Given the description of an element on the screen output the (x, y) to click on. 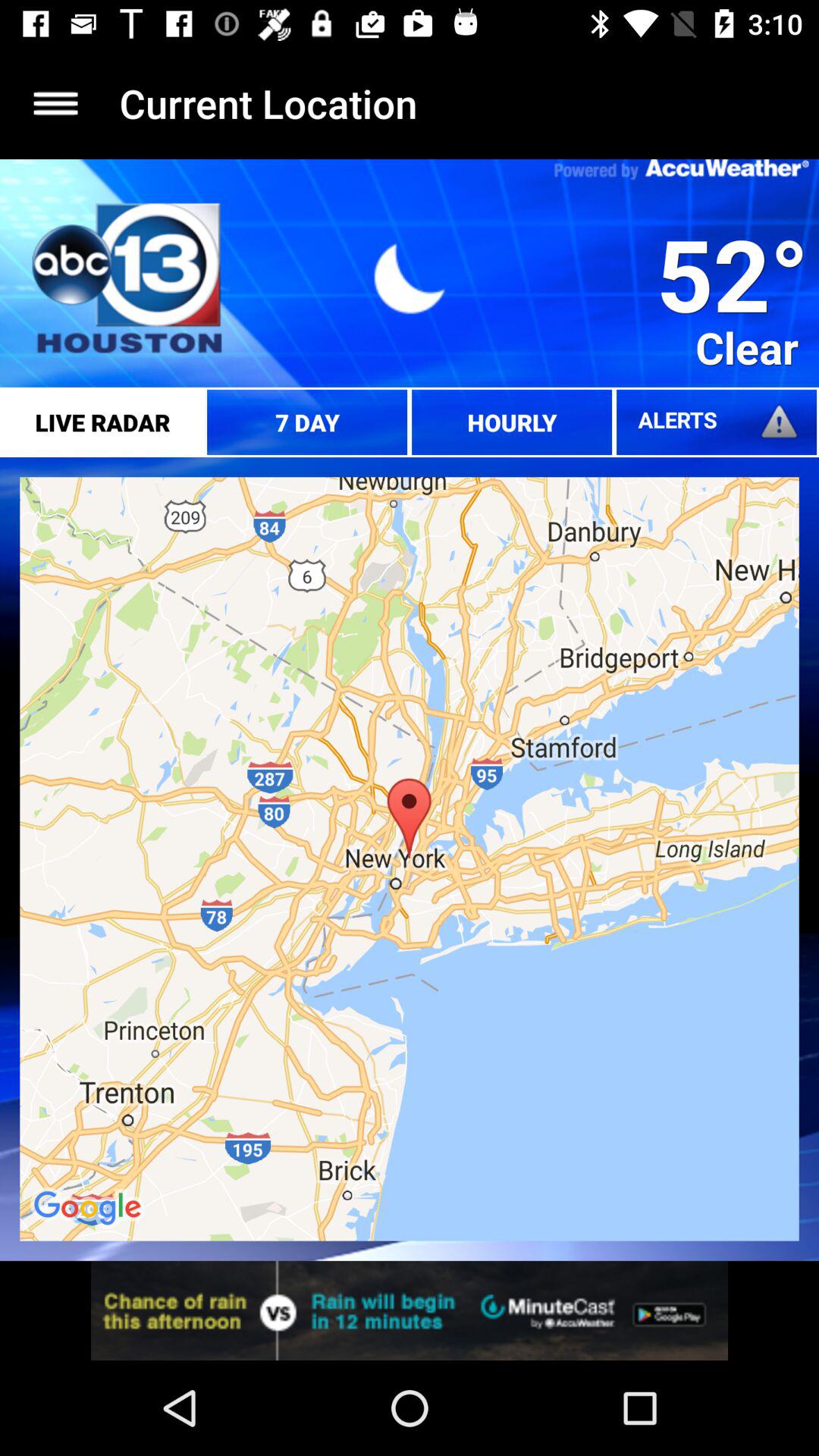
advertisement in the bottom (409, 1310)
